Given the description of an element on the screen output the (x, y) to click on. 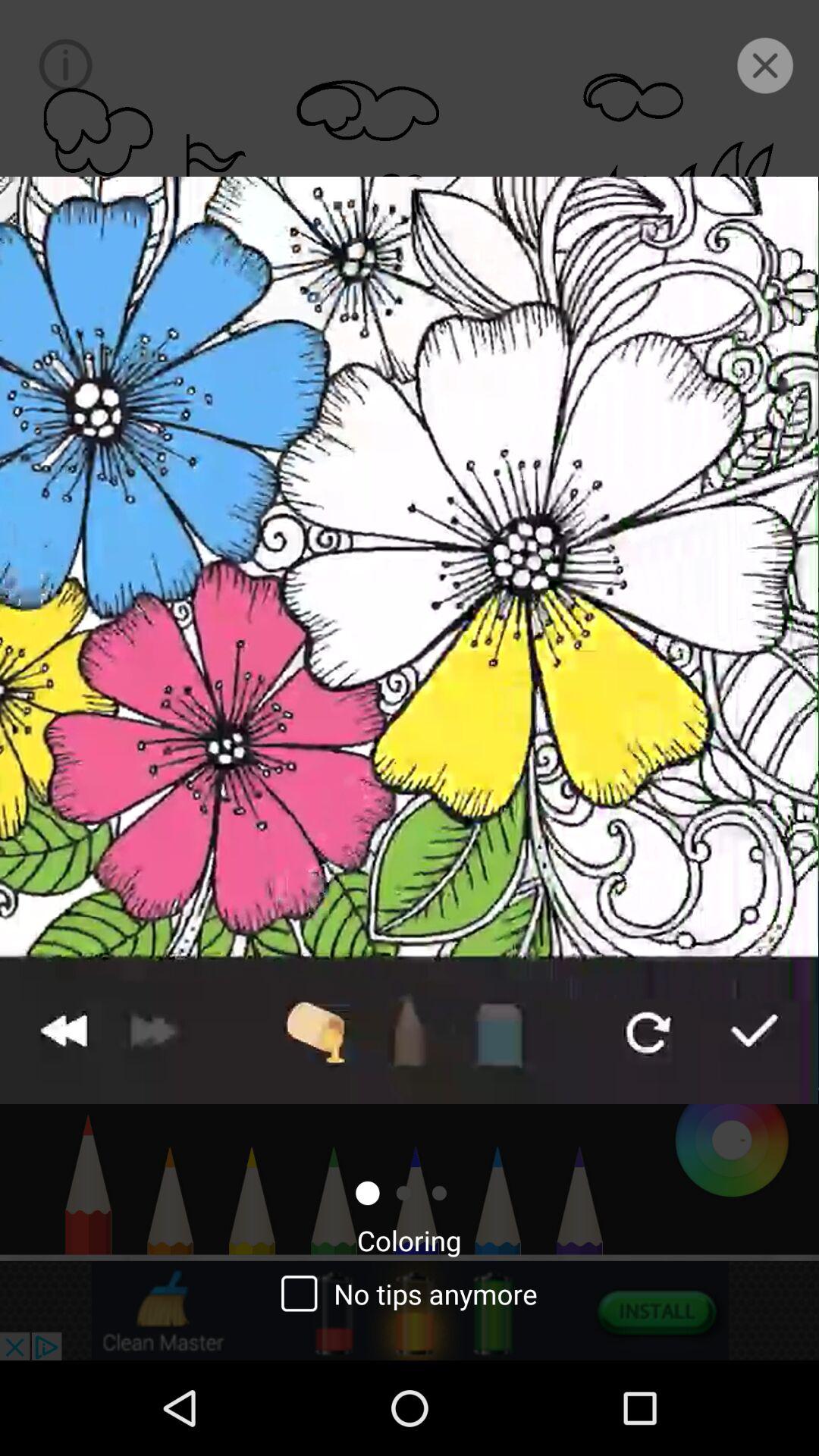
close the page option (765, 65)
